Given the description of an element on the screen output the (x, y) to click on. 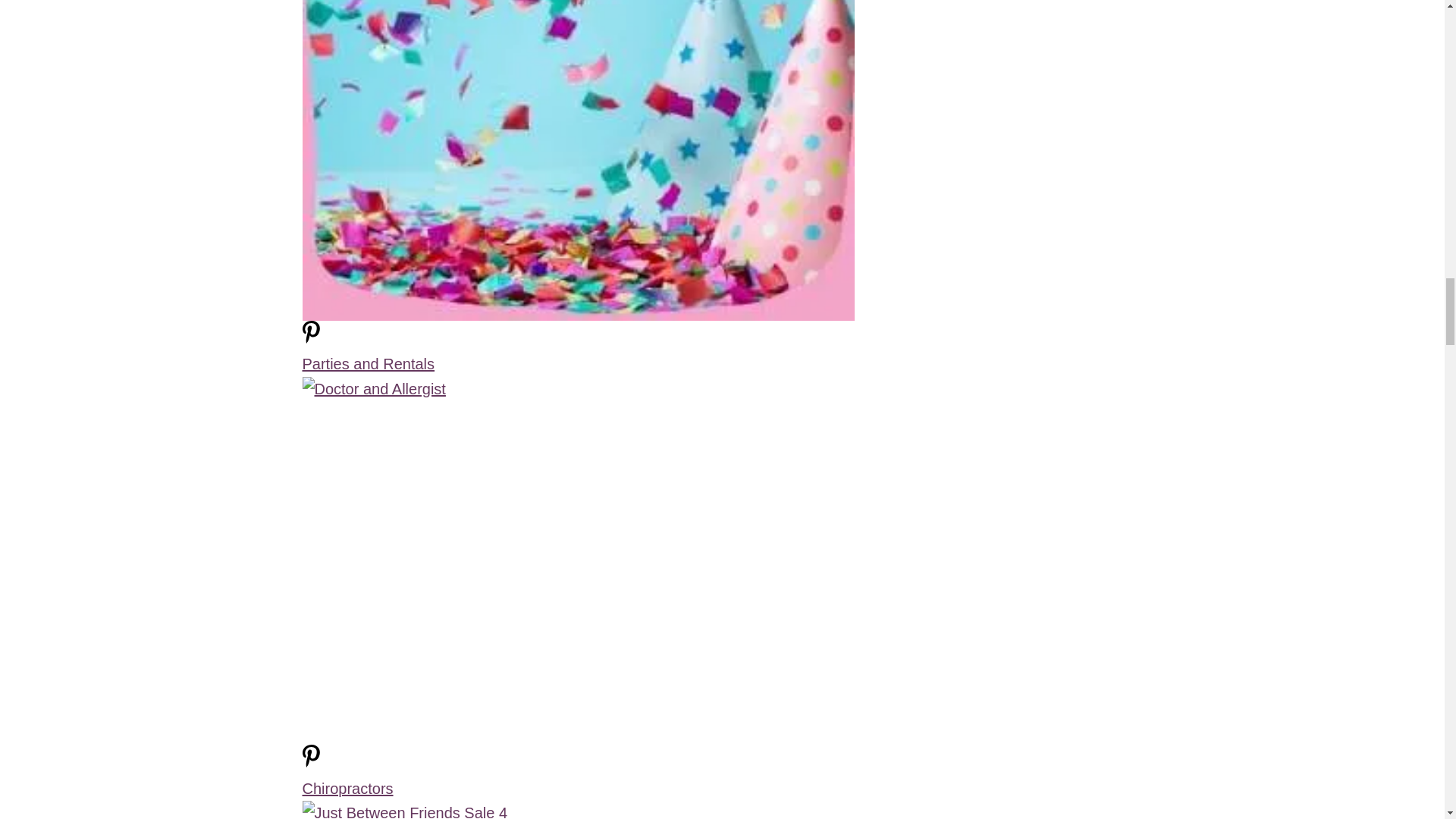
Parties and Rentals (367, 363)
